Given the description of an element on the screen output the (x, y) to click on. 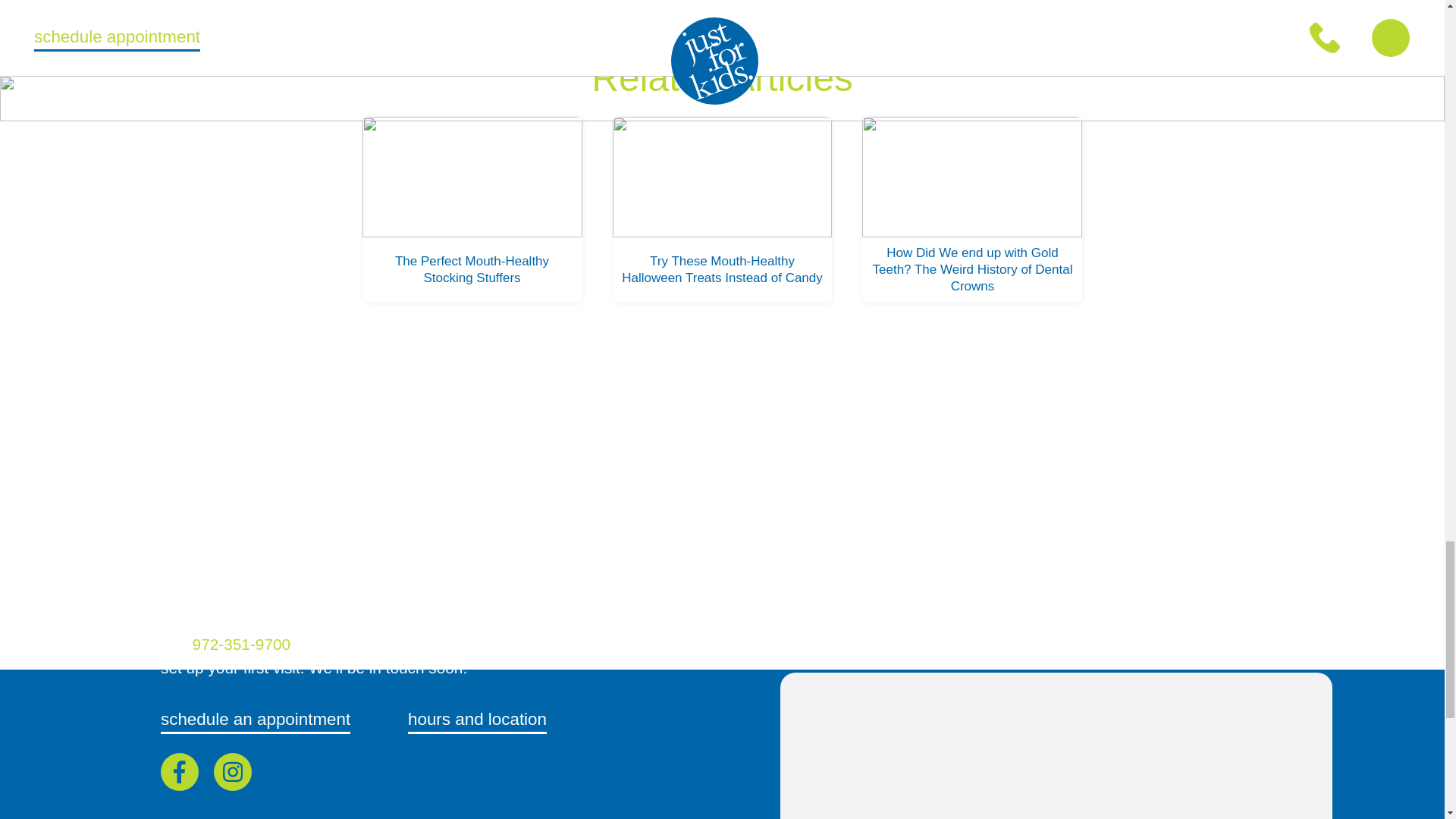
hours and location (477, 720)
972-351-9700 (243, 643)
The Perfect Mouth-Healthy Stocking Stuffers (472, 209)
Try These Mouth-Healthy Halloween Treats Instead of Candy (722, 209)
schedule an appointment (255, 720)
